Given the description of an element on the screen output the (x, y) to click on. 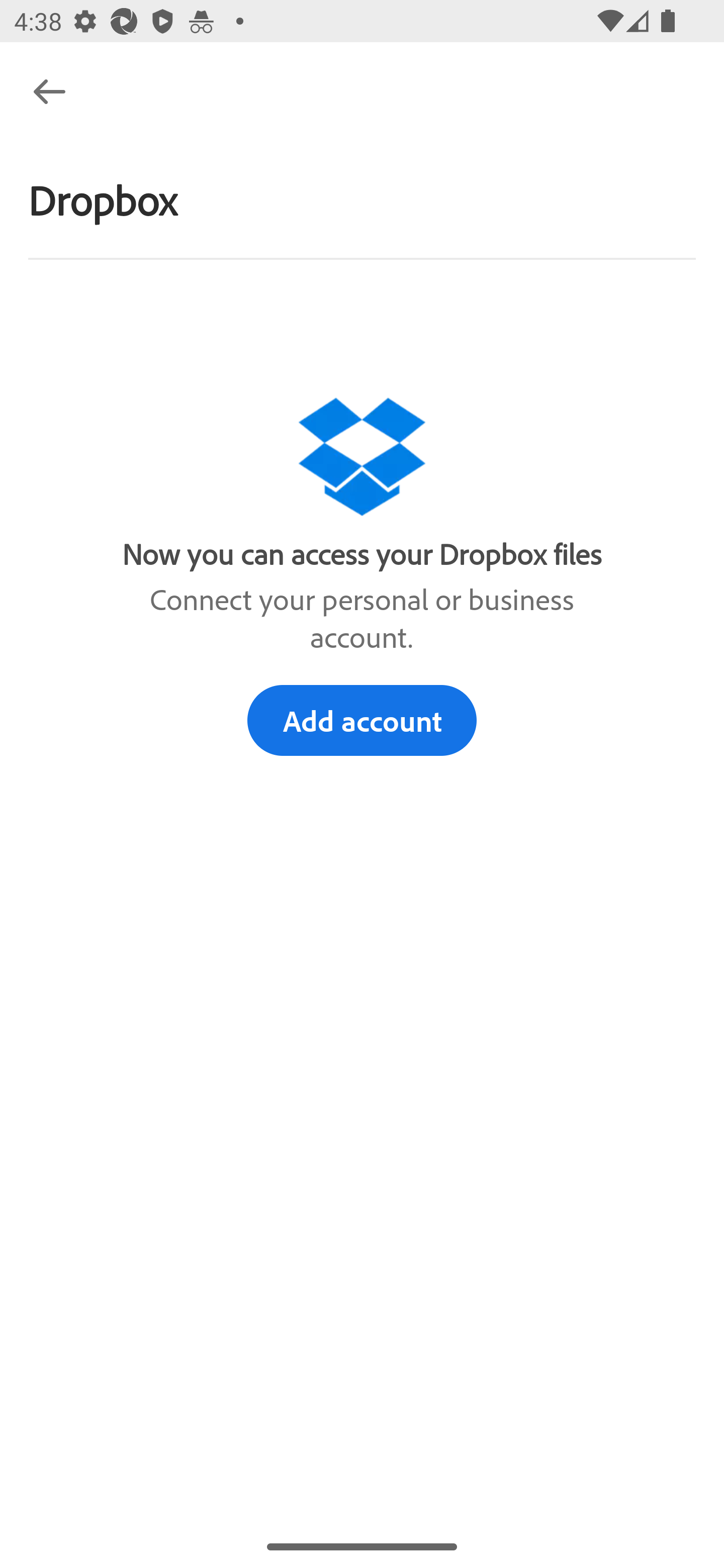
Navigate up (49, 91)
Add account (361, 720)
